Given the description of an element on the screen output the (x, y) to click on. 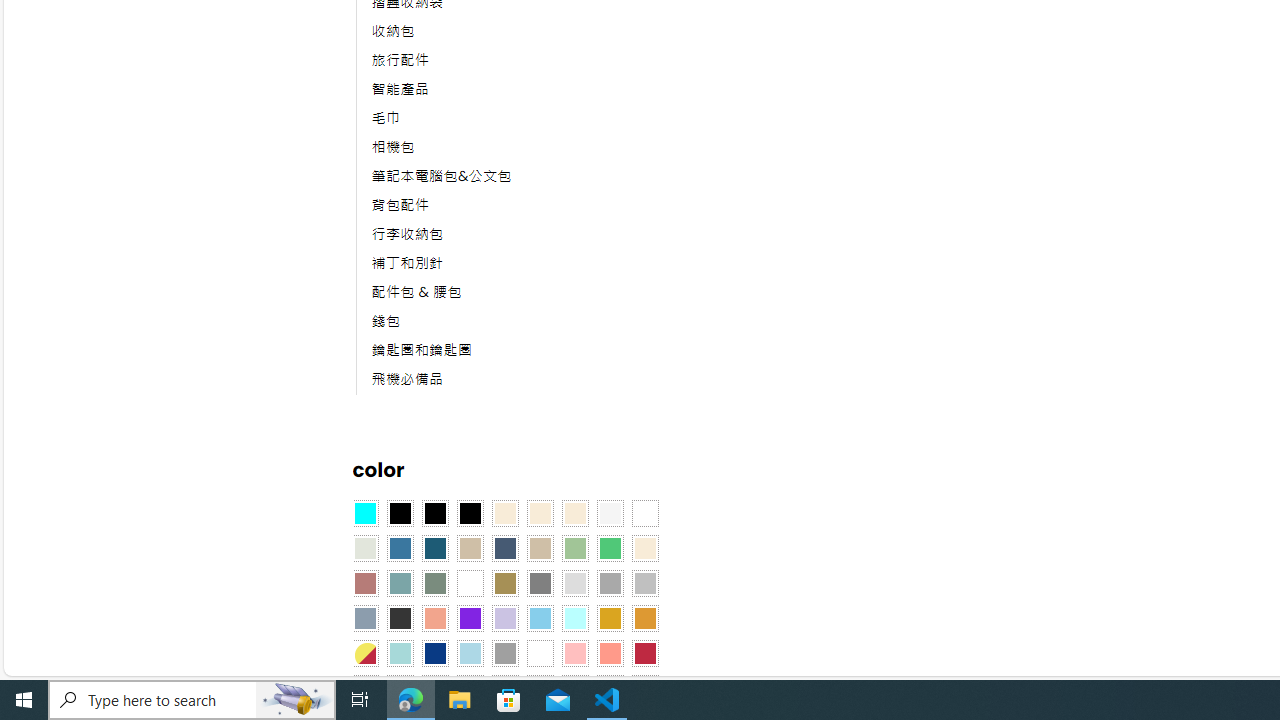
Cream (574, 514)
